Given the description of an element on the screen output the (x, y) to click on. 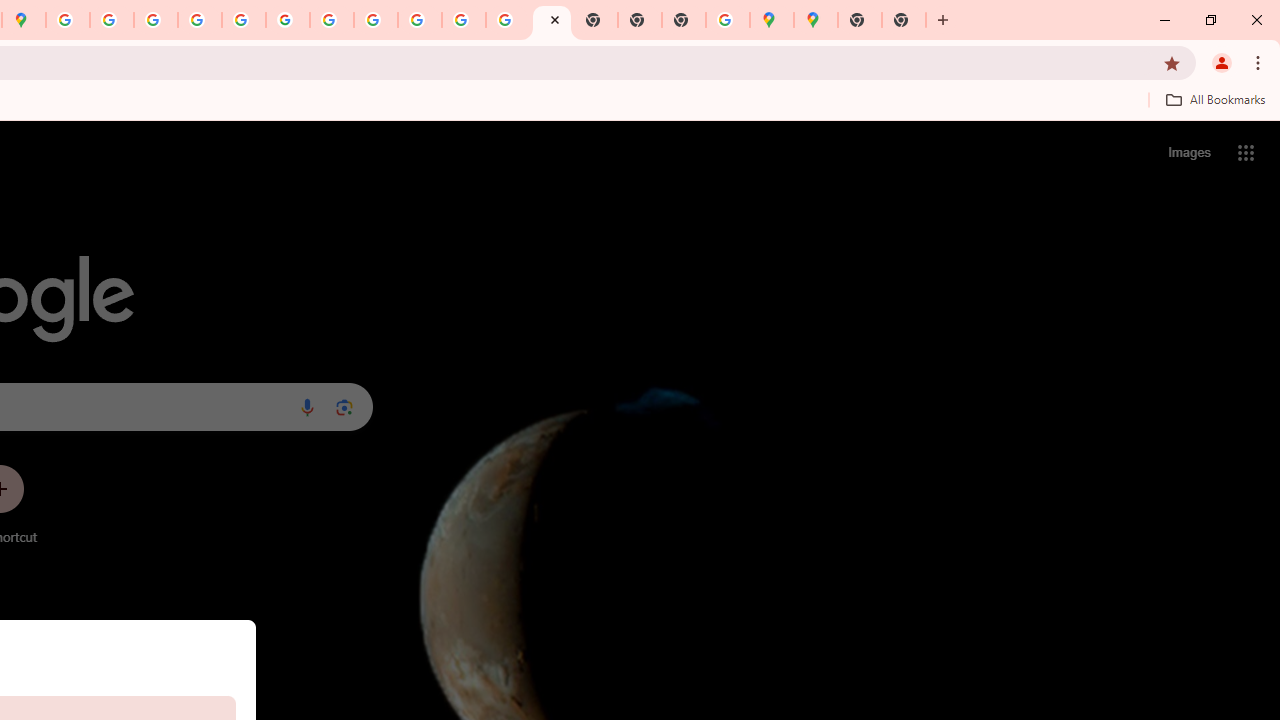
YouTube (331, 20)
Privacy Help Center - Policies Help (155, 20)
Google Maps (815, 20)
Privacy Help Center - Policies Help (199, 20)
New Tab (903, 20)
